Given the description of an element on the screen output the (x, y) to click on. 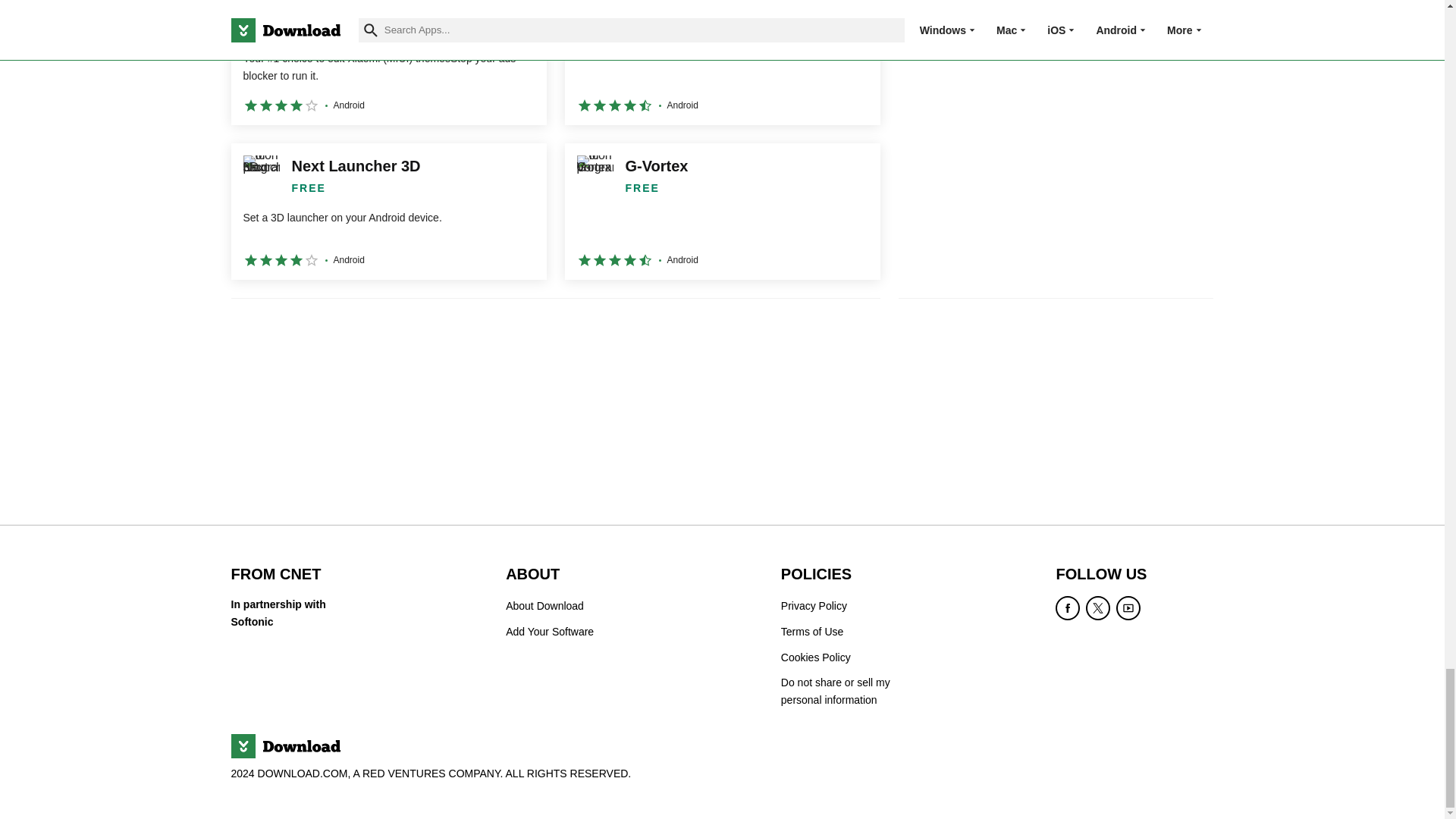
G-Vortex (721, 211)
Fake Pey -Money Transfer Prank (721, 62)
Next Launcher 3D (388, 211)
Become a Facebook fan of Download.com (1067, 607)
Download.com (284, 745)
MIUI Theme Editor (388, 62)
